Given the description of an element on the screen output the (x, y) to click on. 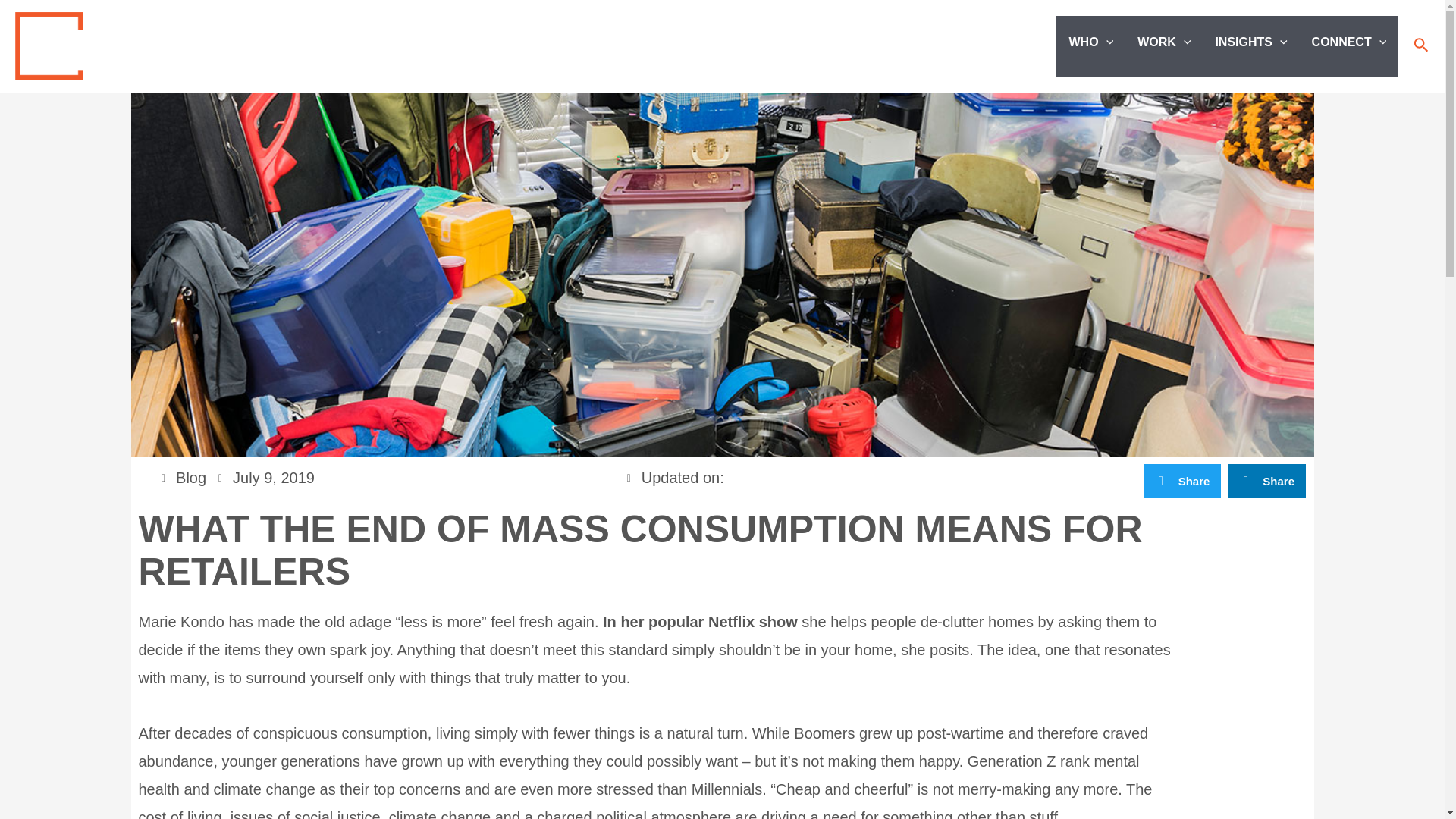
CONNECT (1349, 41)
WORK (1163, 41)
WHO (1091, 41)
INSIGHTS (1250, 41)
